Given the description of an element on the screen output the (x, y) to click on. 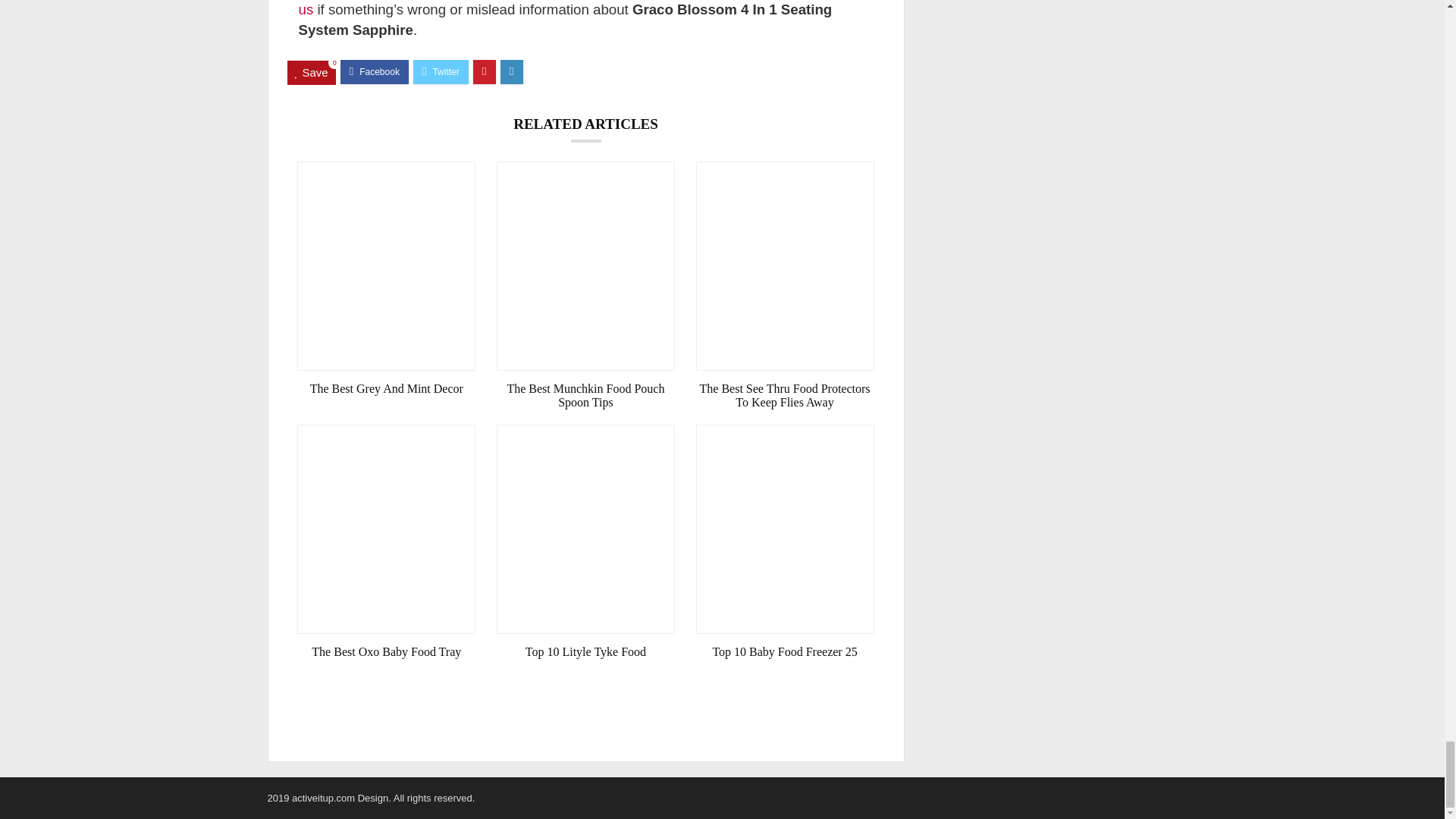
The Best See Thru Food Protectors To Keep Flies Away (785, 395)
Top 10 Lityle Tyke Food (585, 652)
The Best Oxo Baby Food Tray (386, 652)
The Best Munchkin Food Pouch Spoon Tips (585, 395)
The Best Grey And Mint Decor (386, 388)
Top 10 Baby Food Freezer 25 (785, 652)
